Given the description of an element on the screen output the (x, y) to click on. 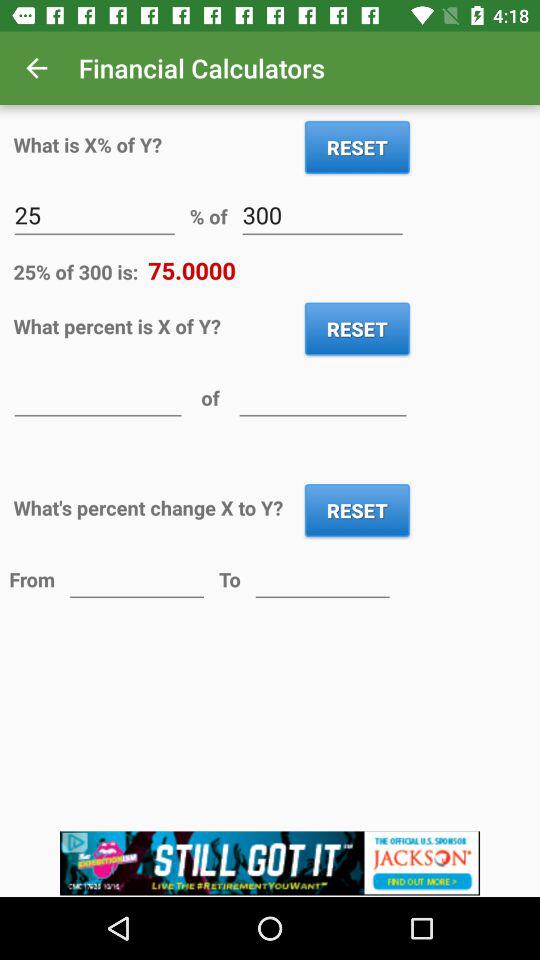
enter value (136, 578)
